Given the description of an element on the screen output the (x, y) to click on. 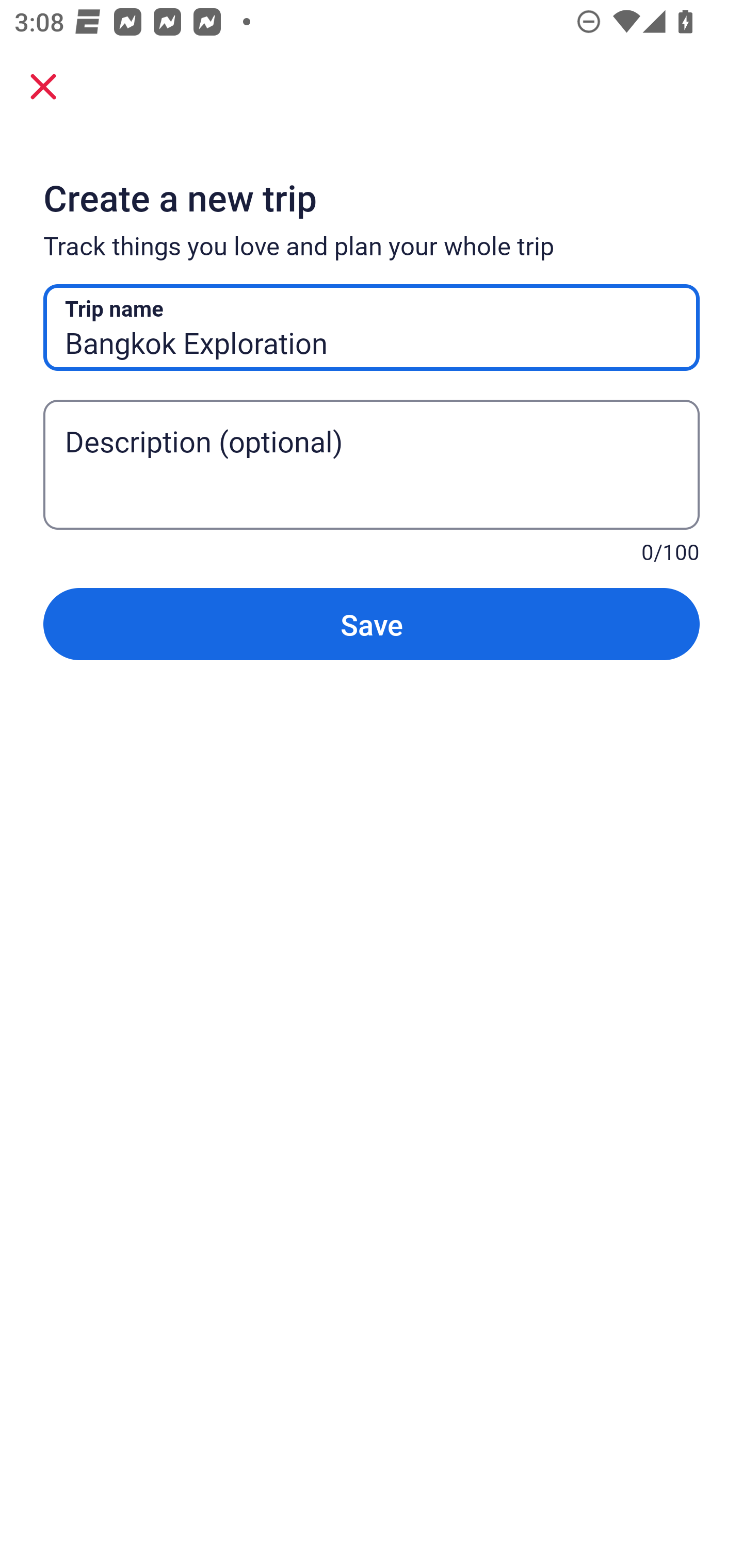
Close (43, 86)
Bangkok Exploration Trip name Trip name (371, 327)
Save Button Save (371, 624)
